Given the description of an element on the screen output the (x, y) to click on. 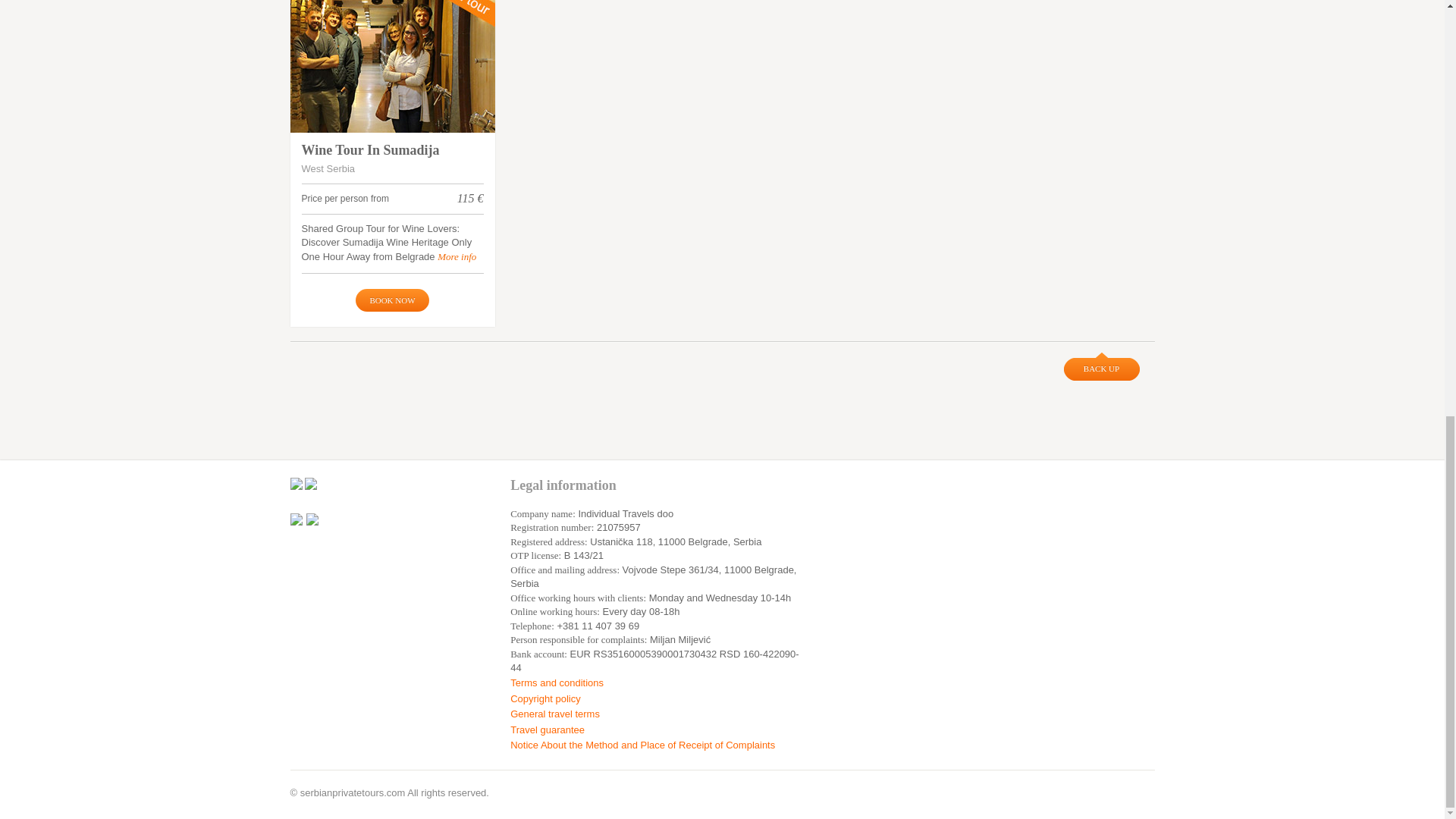
fb:like Facebook Social Plugin (406, 483)
Back up (1100, 366)
Wine Tour In Sumadija (392, 66)
BACK UP (1100, 366)
Book now (391, 300)
